Given the description of an element on the screen output the (x, y) to click on. 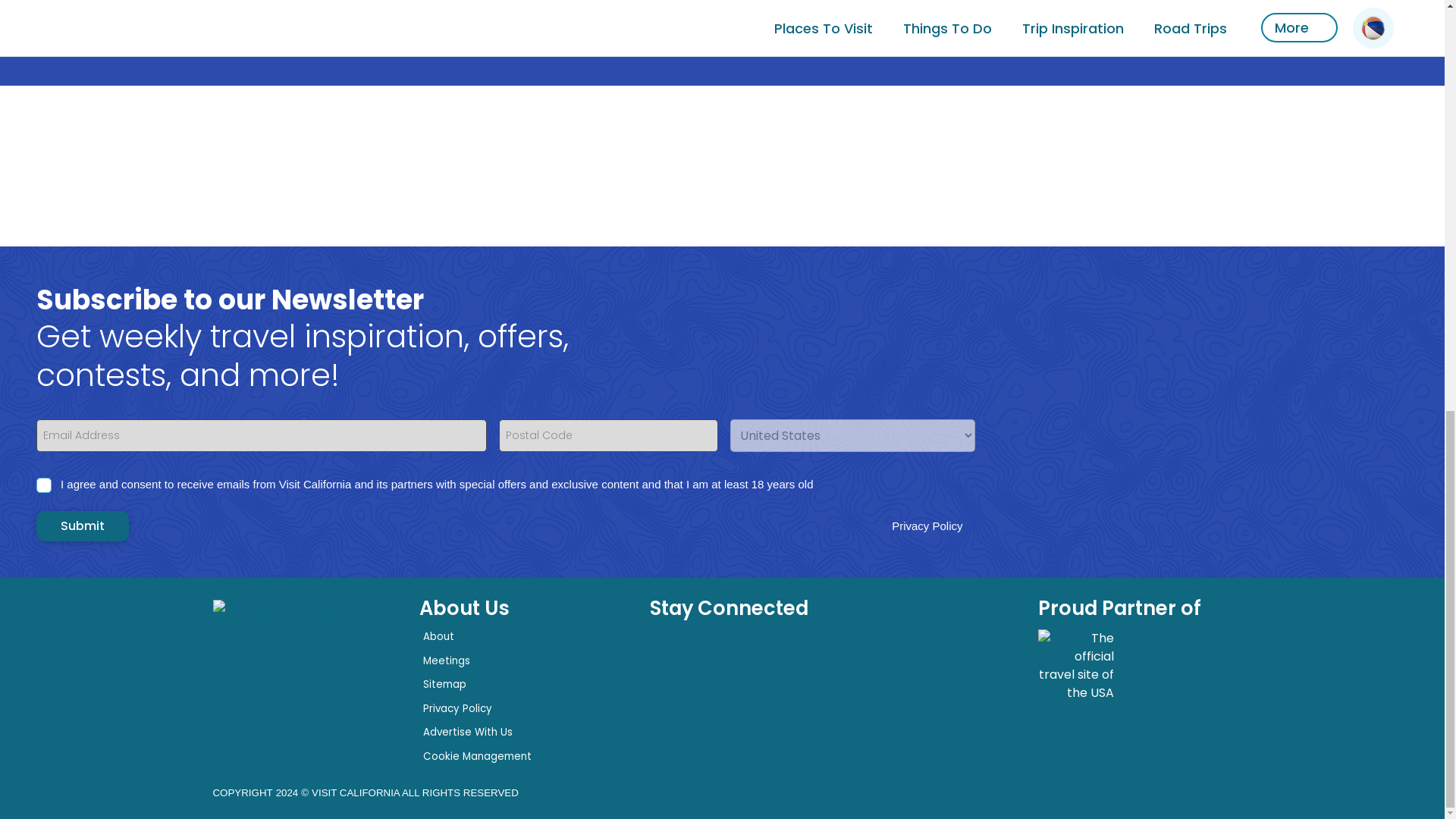
Privacy Policy (457, 708)
Pinterest (849, 661)
Instagram (757, 661)
Submit (82, 526)
newsletter request (757, 712)
YouTube (667, 712)
X (712, 661)
Sitemap (444, 684)
Advertise With Us (467, 731)
Facebook (667, 661)
About (438, 636)
Meetings (446, 660)
TickTok (712, 712)
Sacramento Zoo (1007, 13)
Threads (804, 661)
